Given the description of an element on the screen output the (x, y) to click on. 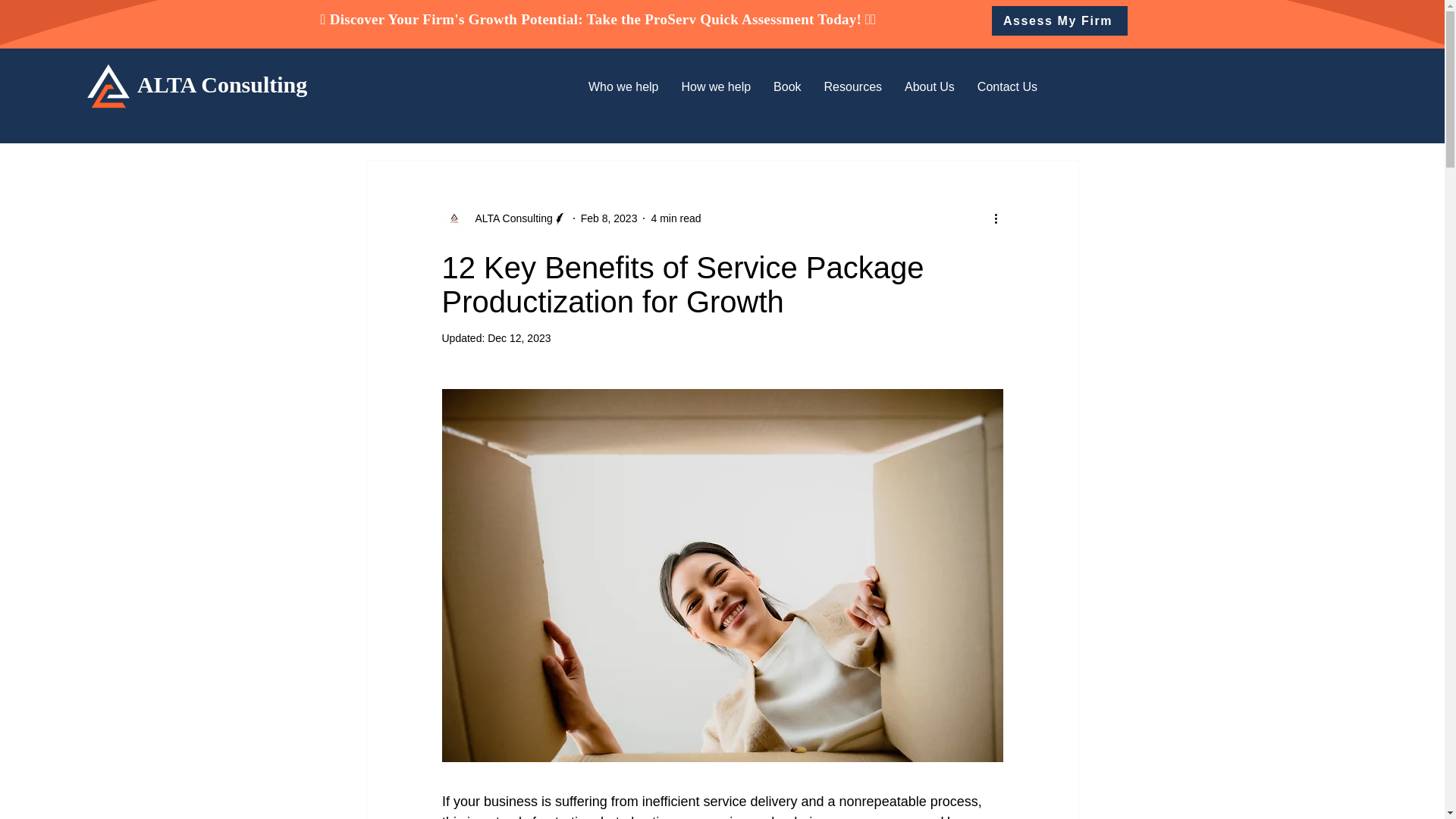
ALTA Consulting (221, 84)
Dec 12, 2023 (518, 337)
Resources (914, 114)
All Posts (388, 114)
Insights (722, 114)
Feb 8, 2023 (608, 218)
Leadership Coaching (615, 114)
Press Releases (815, 114)
Assess My Firm (1058, 20)
Strategy (995, 114)
Growth Coaching (486, 114)
ALTA Consulting (508, 218)
ALTA Consulting (503, 218)
4 min read (675, 218)
